Given the description of an element on the screen output the (x, y) to click on. 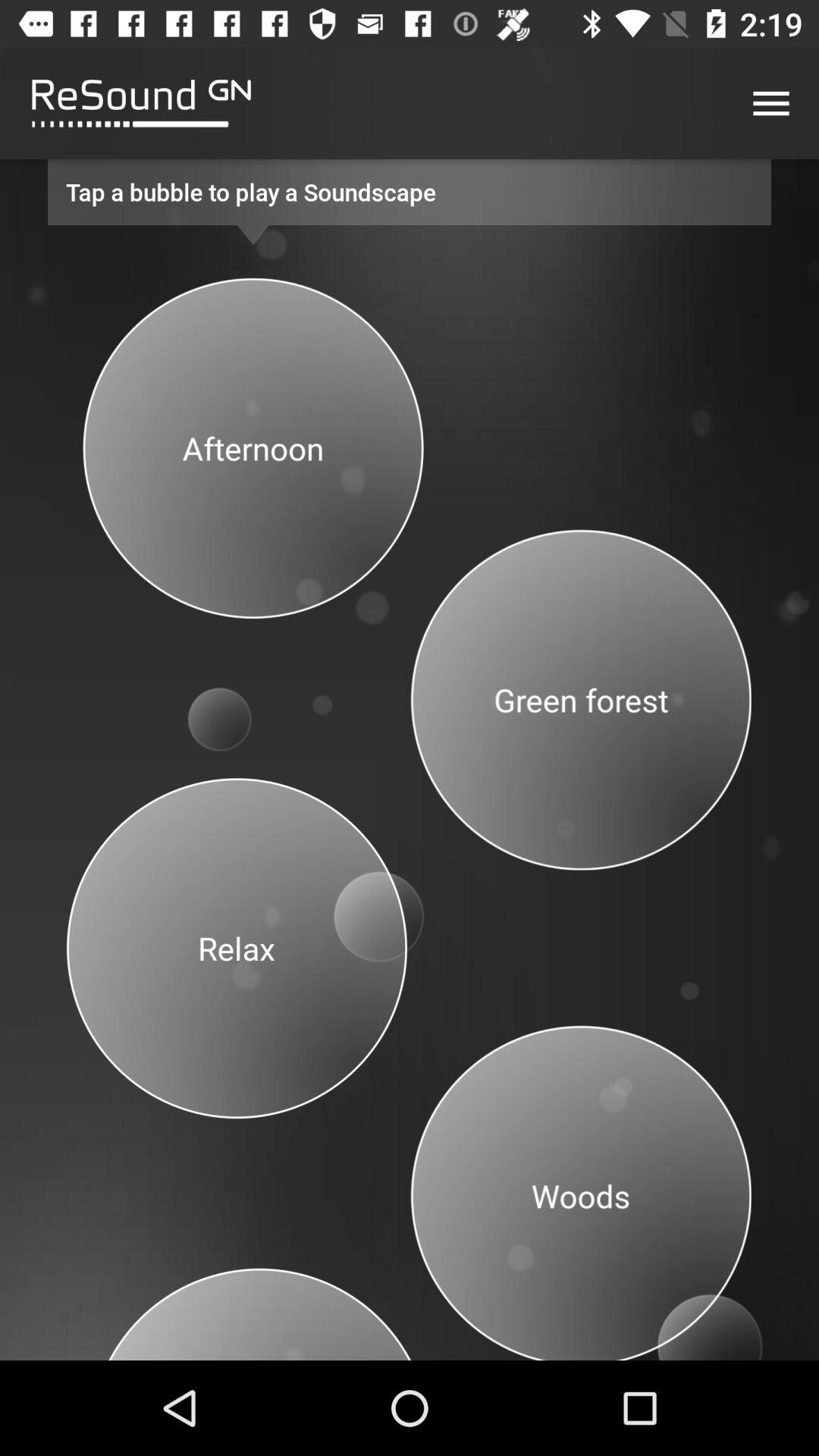
select the bubble which is in between afternoon and relax (225, 704)
choose menu button (771, 103)
